Given the description of an element on the screen output the (x, y) to click on. 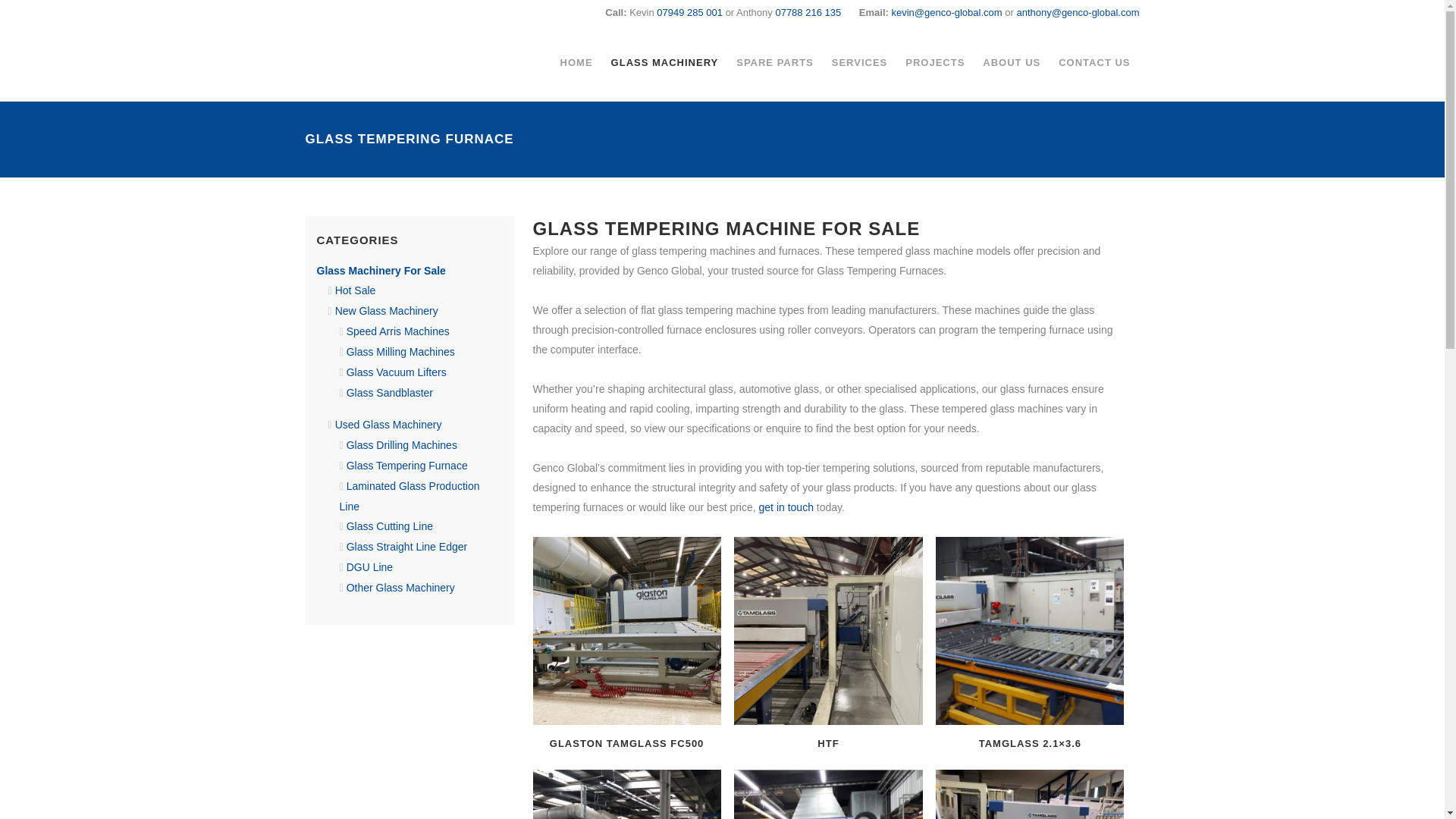
SERVICES (859, 62)
SPARE PARTS (774, 62)
07949 285 001 (689, 12)
PROJECTS (935, 62)
07788 216 135 (807, 12)
CONTACT US (1093, 62)
GLASS MACHINERY (665, 62)
ABOUT US (1011, 62)
